Given the description of an element on the screen output the (x, y) to click on. 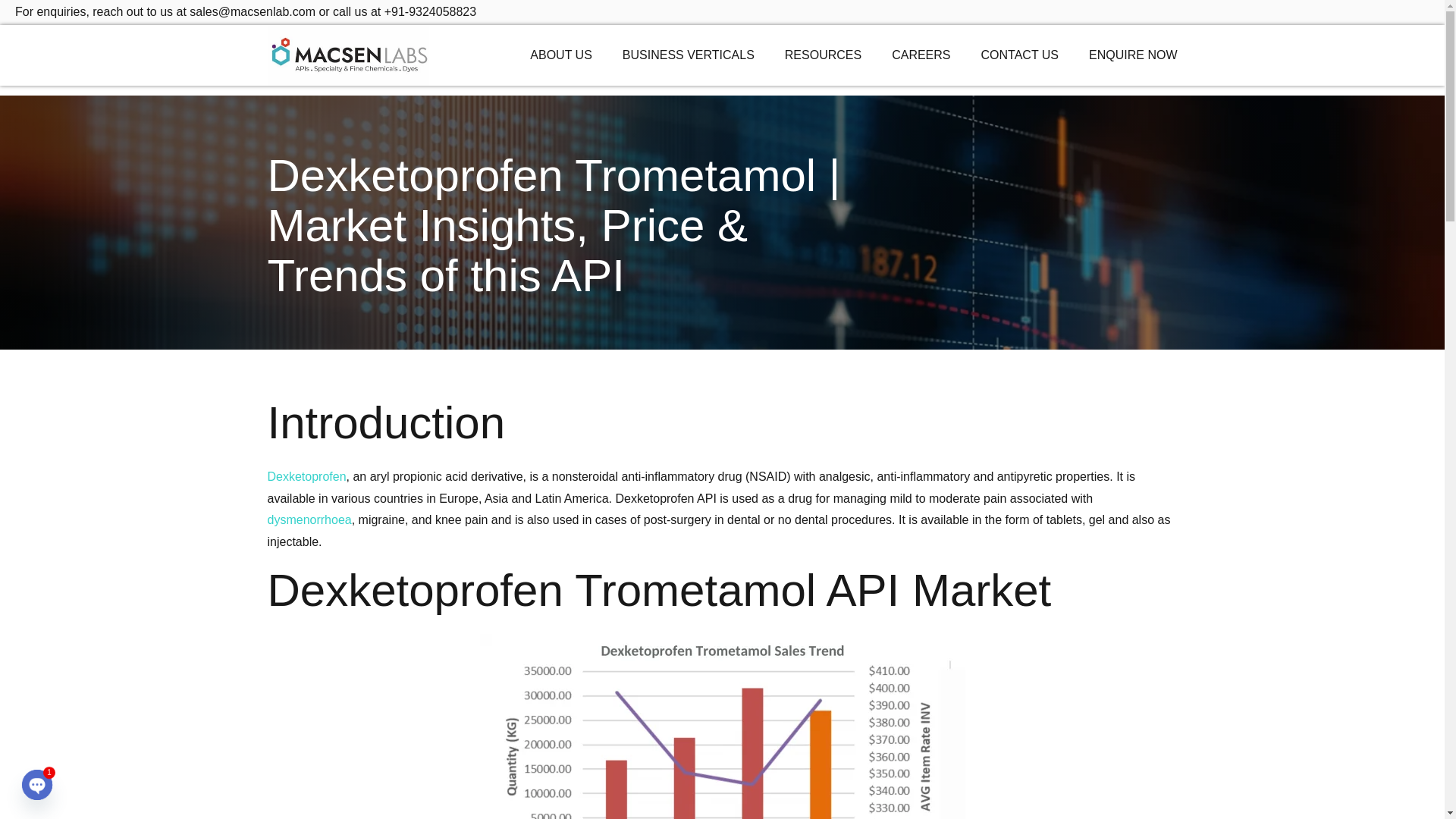
CONTACT US (1020, 55)
BUSINESS VERTICALS (688, 55)
RESOURCES (822, 55)
dysmenorrhoea (308, 519)
ENQUIRE NOW (1132, 55)
CAREERS (920, 55)
Dexketoprofen (306, 476)
ABOUT US (560, 55)
